Given the description of an element on the screen output the (x, y) to click on. 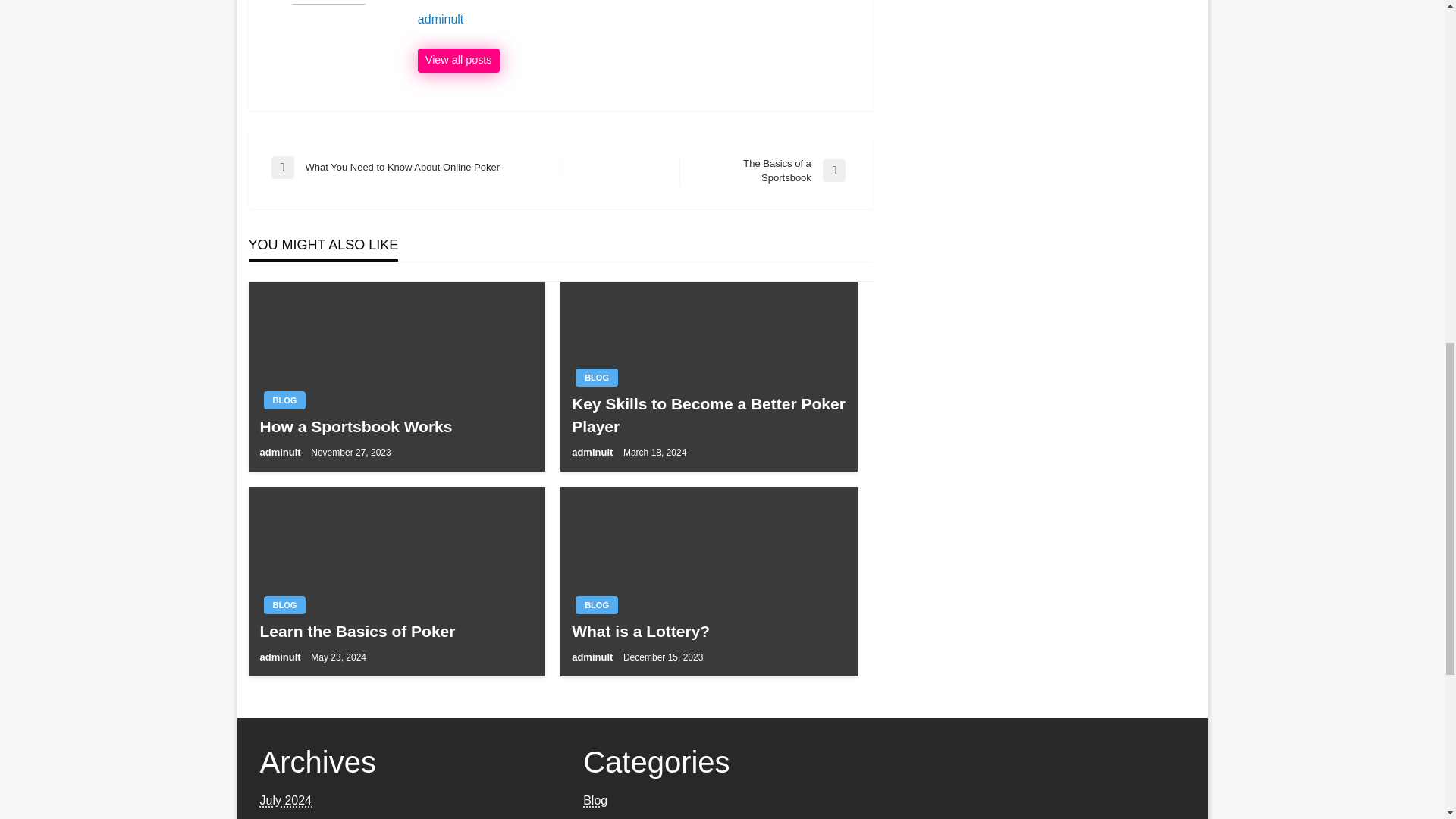
View all posts (458, 60)
adminult (458, 60)
BLOG (596, 605)
adminult (280, 656)
July 2024 (285, 799)
adminult (593, 451)
What is a Lottery? (708, 630)
How a Sportsbook Works (396, 426)
BLOG (415, 167)
adminult (284, 605)
BLOG (637, 19)
Learn the Basics of Poker (596, 377)
adminult (396, 630)
